Given the description of an element on the screen output the (x, y) to click on. 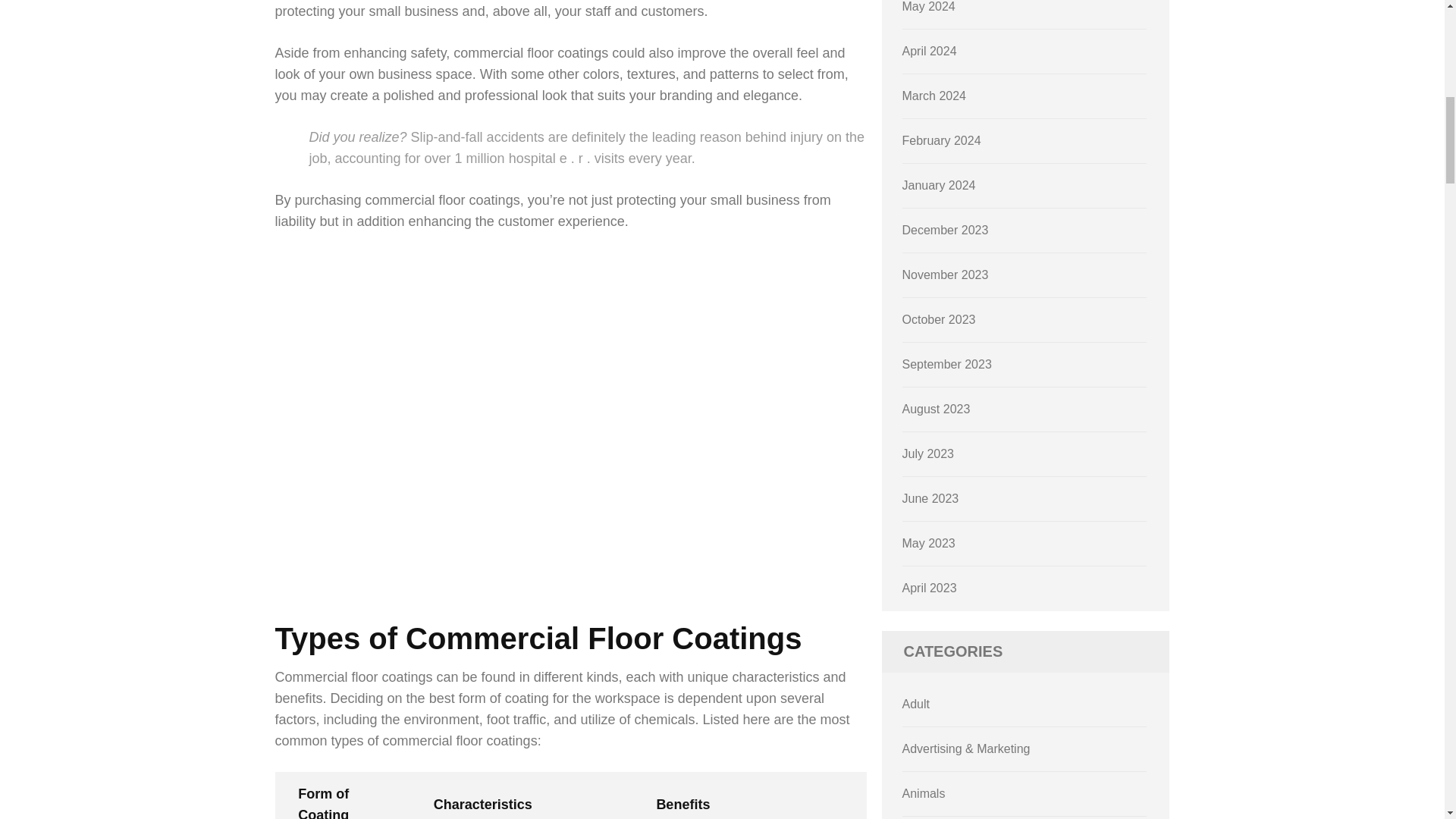
April 2024 (929, 51)
November 2023 (945, 274)
August 2023 (936, 408)
April 2023 (929, 587)
June 2023 (930, 498)
May 2023 (928, 543)
July 2023 (928, 453)
January 2024 (938, 185)
March 2024 (934, 95)
February 2024 (941, 140)
